Given the description of an element on the screen output the (x, y) to click on. 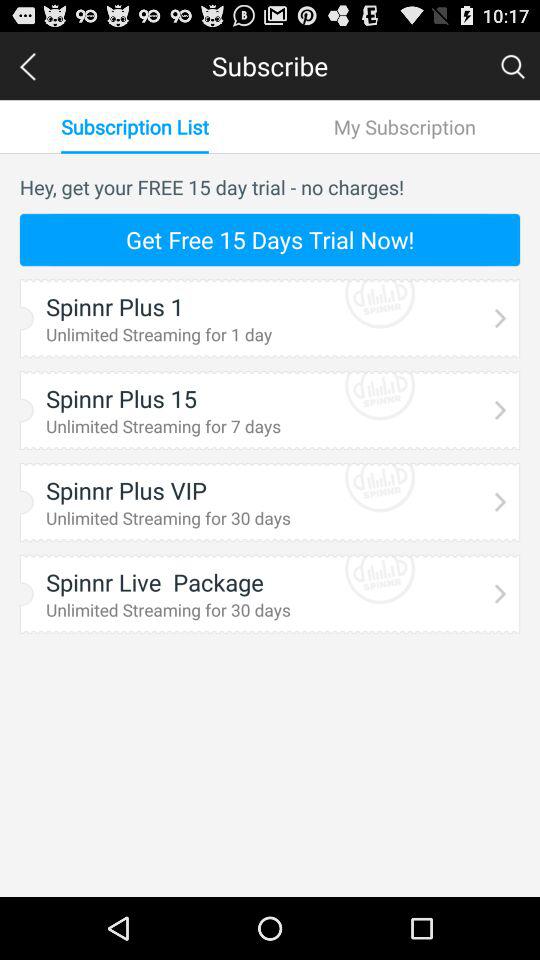
click on the left arrow at the top left corner (28, 65)
select the caret right symbol which is to the right side of spinner live package option (501, 592)
